Given the description of an element on the screen output the (x, y) to click on. 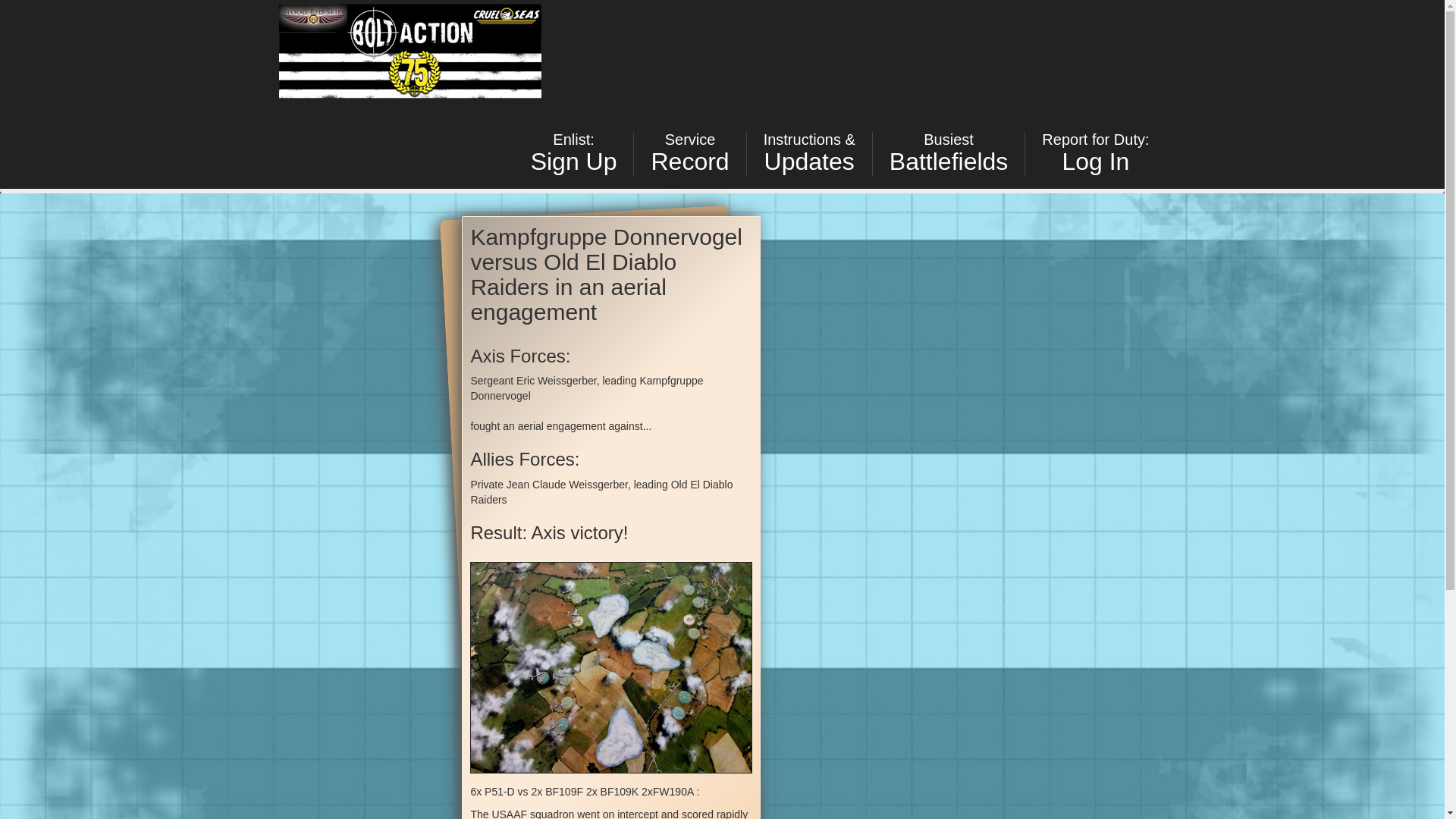
D-Day Campaign - Home Page (573, 153)
